Given the description of an element on the screen output the (x, y) to click on. 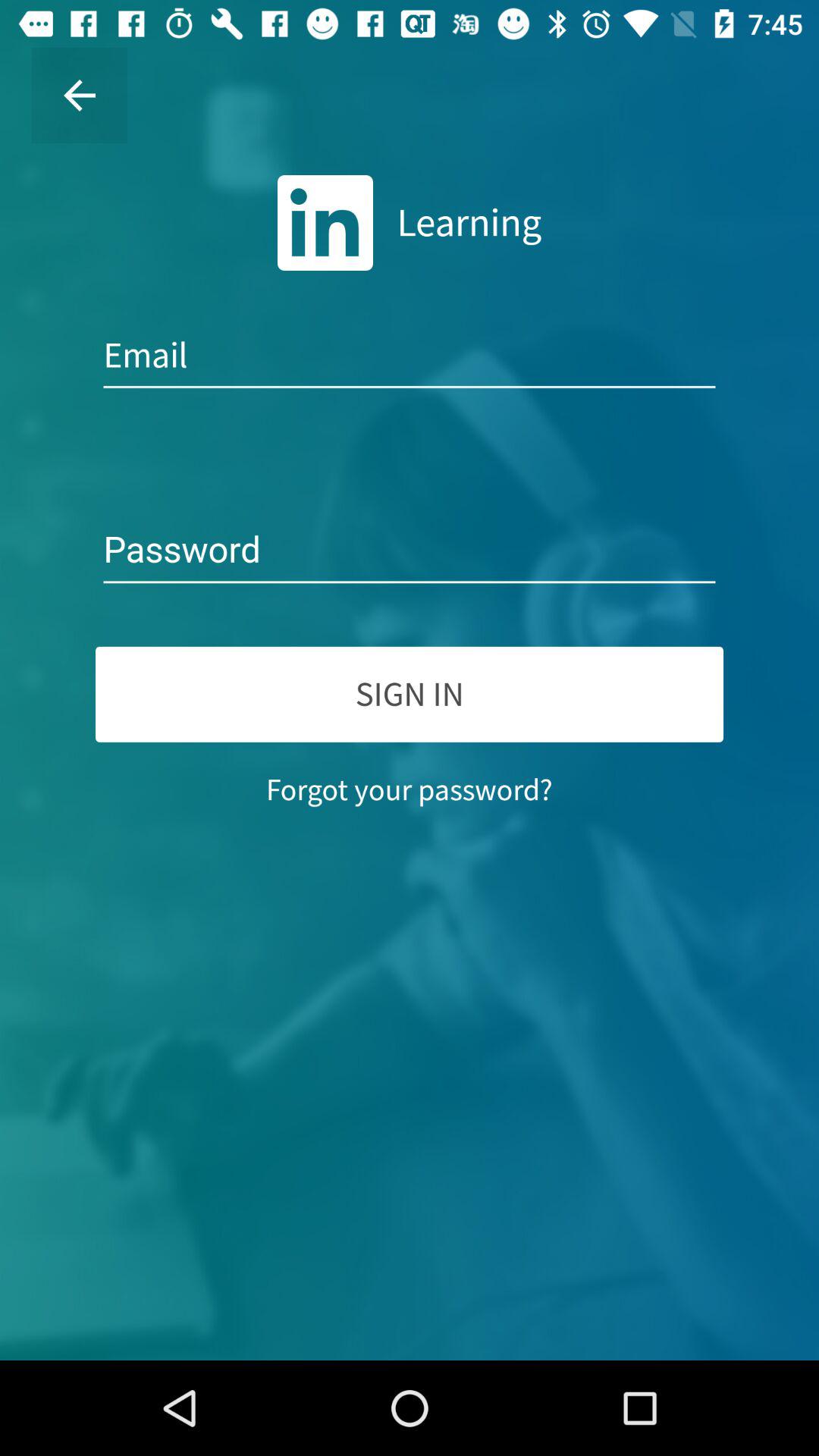
scroll until forgot your password? (409, 789)
